Given the description of an element on the screen output the (x, y) to click on. 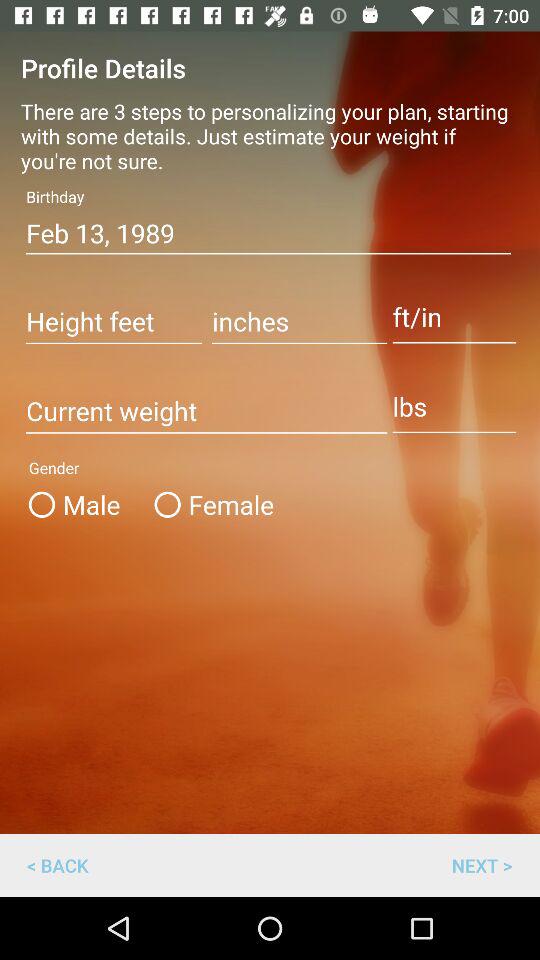
choose icon next to lbs item (206, 412)
